Given the description of an element on the screen output the (x, y) to click on. 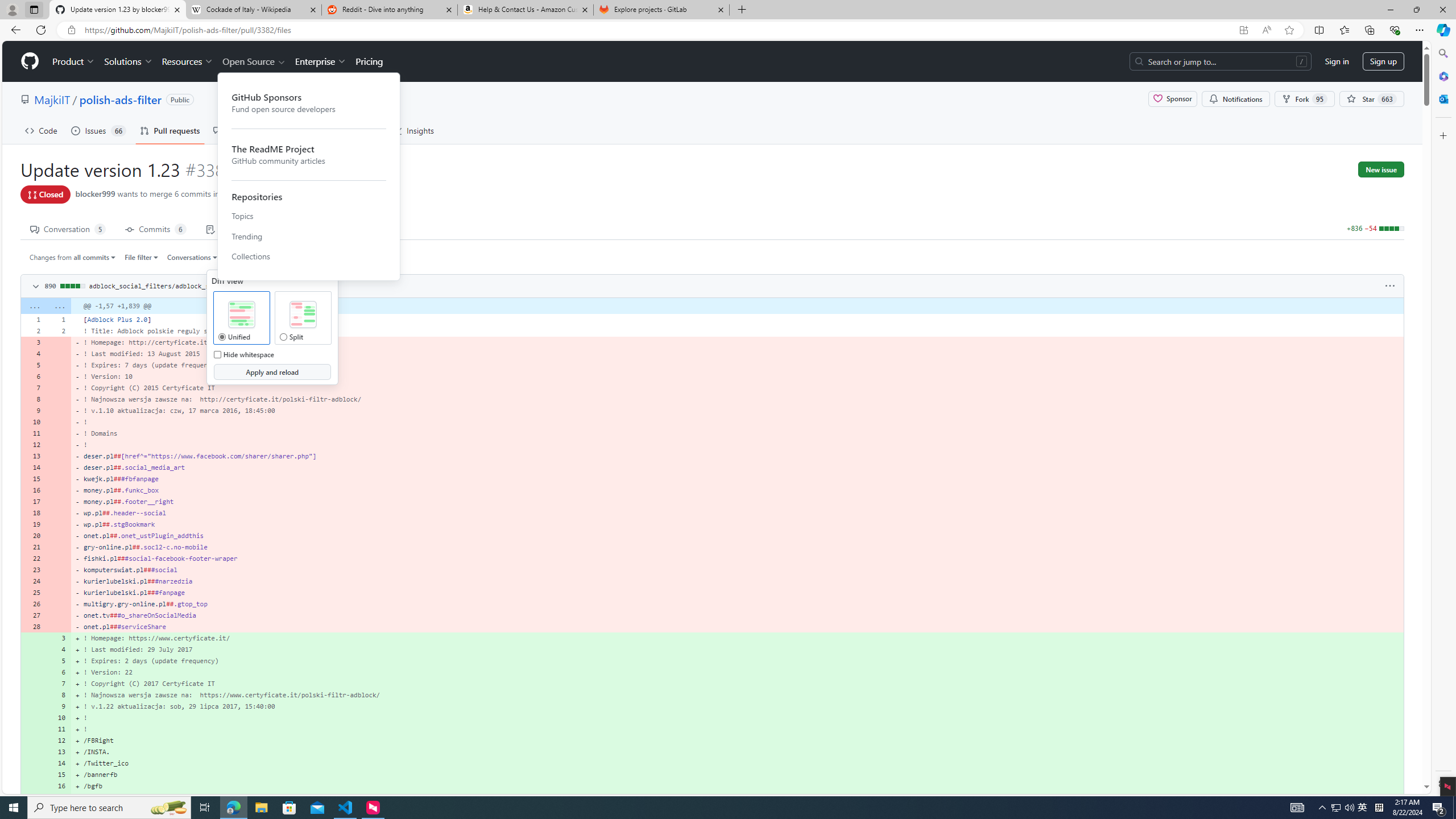
Security (357, 130)
Unified Diff View (241, 314)
Solutions (128, 60)
Solutions (128, 60)
... (58, 305)
 Commits 6 (155, 228)
3 (58, 637)
[Adblock Plus 2.0] (737, 319)
- multigry.gry-online.pl##.gtop_top (737, 603)
Insights (413, 130)
Product (74, 60)
Trending (309, 236)
